Given the description of an element on the screen output the (x, y) to click on. 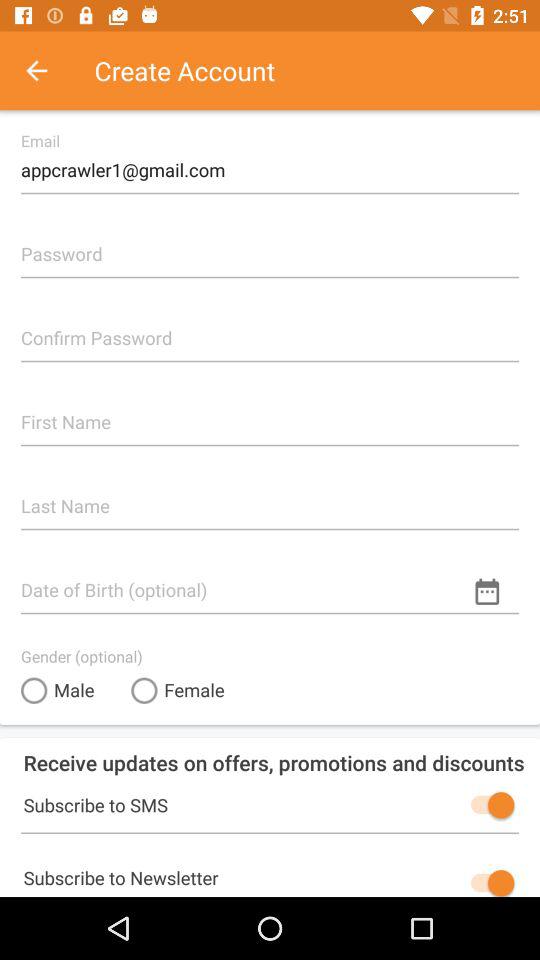
confirm password to sign up (270, 329)
